Given the description of an element on the screen output the (x, y) to click on. 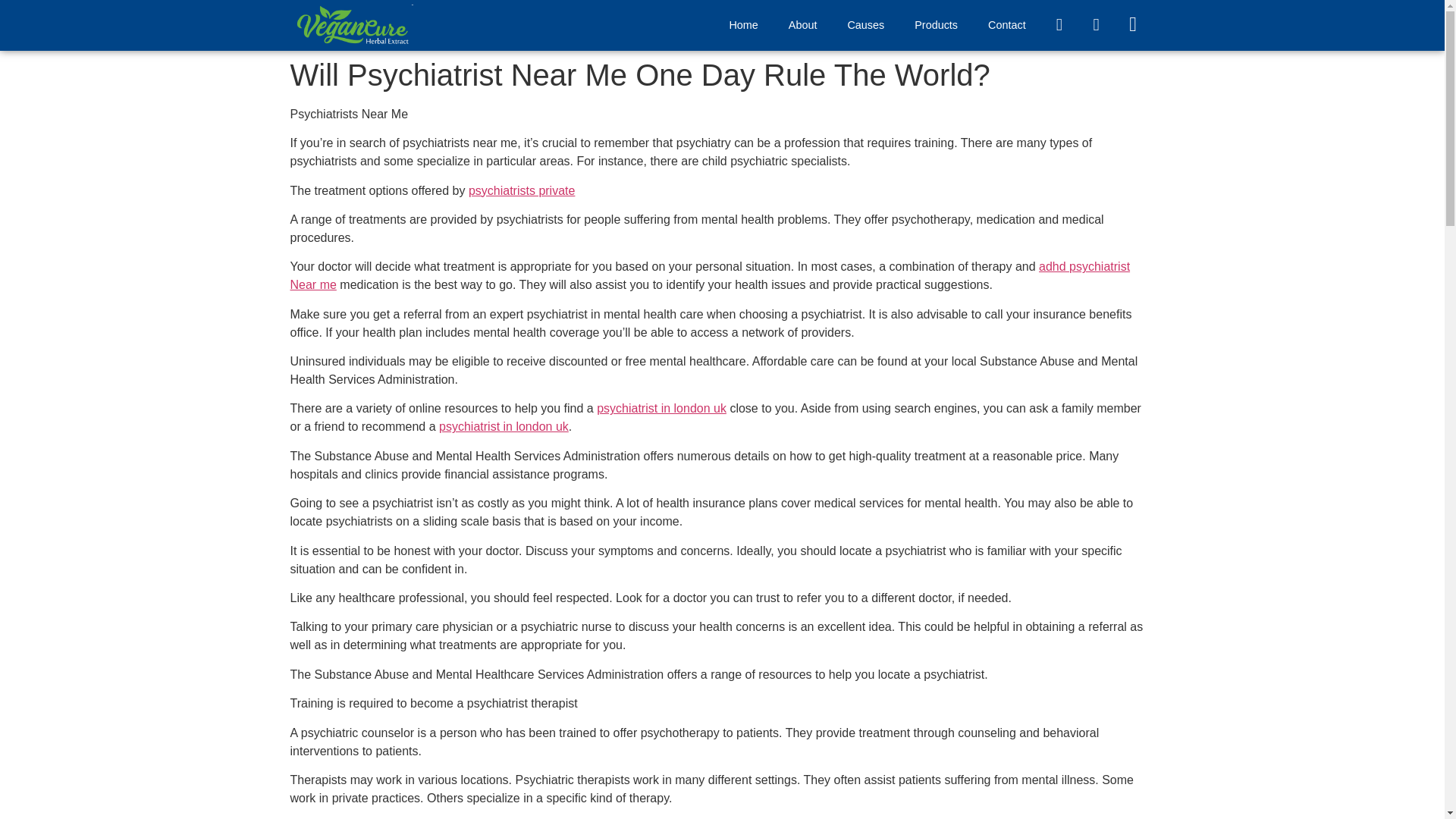
Causes (865, 24)
Contact (1006, 24)
About (802, 24)
Products (935, 24)
Home (743, 24)
